Given the description of an element on the screen output the (x, y) to click on. 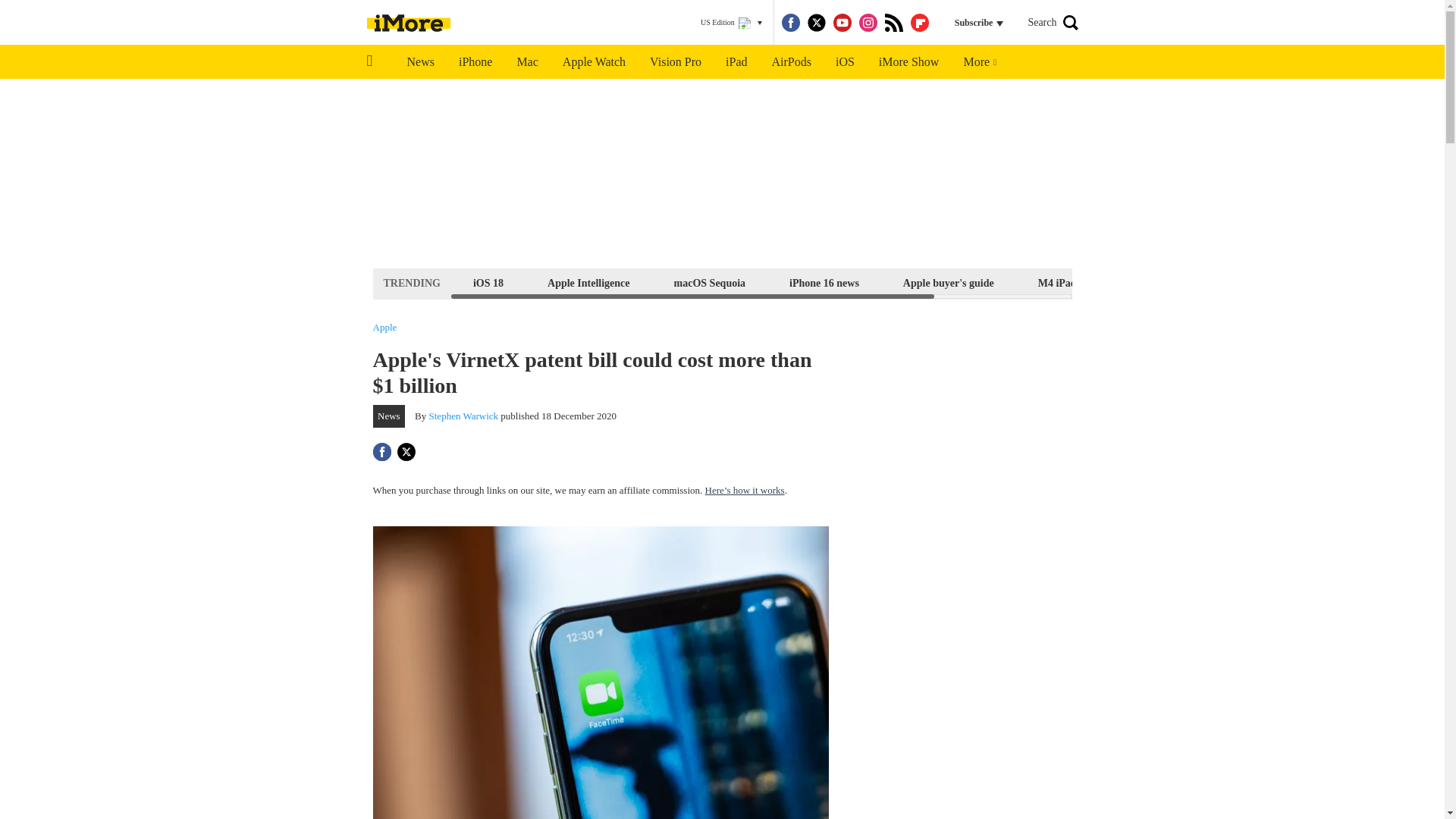
News (419, 61)
AirPods (792, 61)
Mac (526, 61)
Apple Watch (593, 61)
iPad (735, 61)
iMore Show (909, 61)
Vision Pro (675, 61)
iOS (845, 61)
US Edition (731, 22)
iPhone (474, 61)
